Given the description of an element on the screen output the (x, y) to click on. 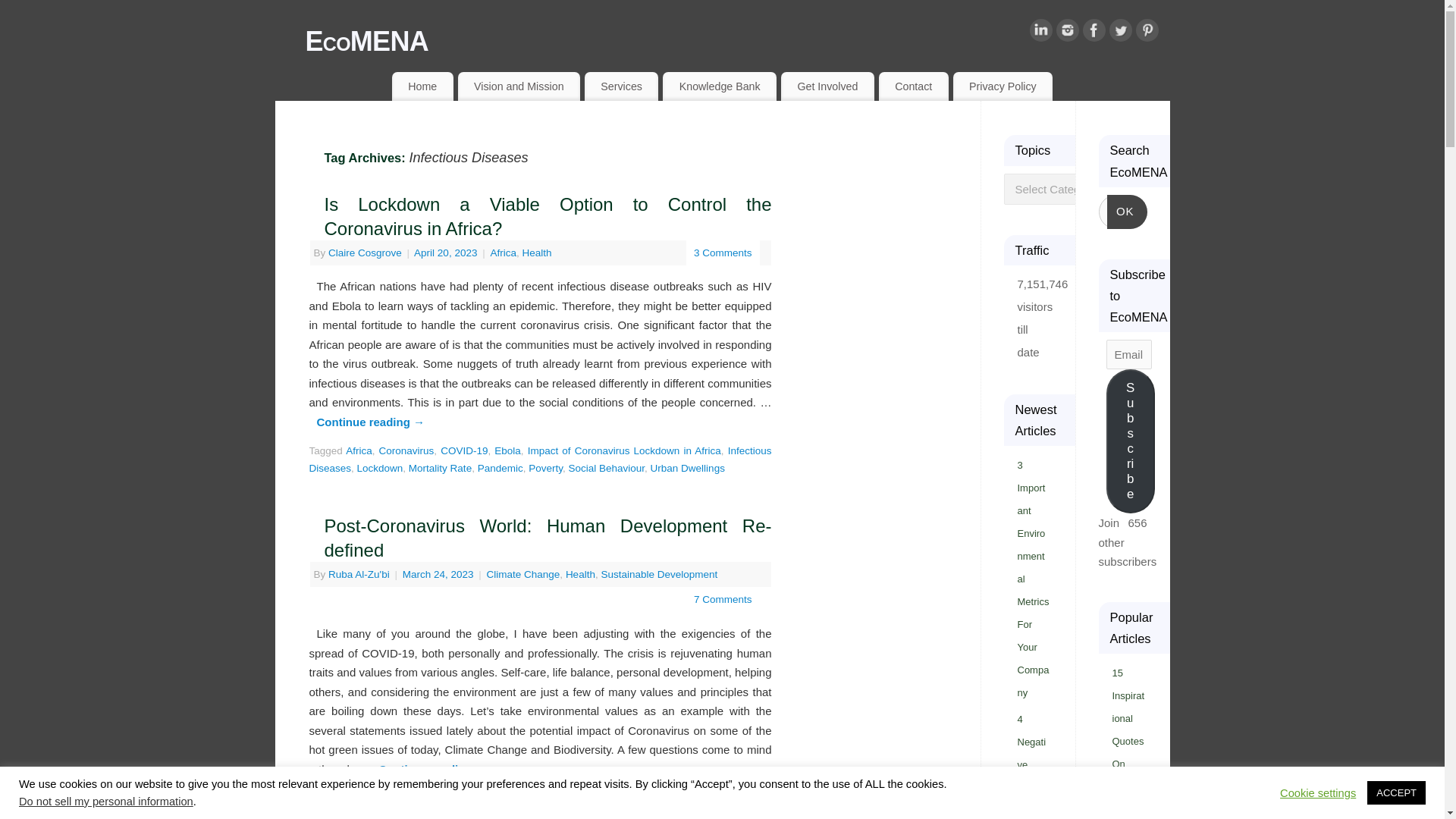
View all posts by Ruba Al-Zu'bi (359, 573)
Services (621, 86)
Lockdown (379, 468)
Home (421, 86)
Knowledge Bank (719, 86)
Urban Dwellings (687, 468)
COVID-19 (464, 450)
Contact (914, 86)
Privacy Policy (1002, 86)
3:17 pm (440, 573)
Africa (359, 450)
Pandemic (499, 468)
Ebola (508, 450)
